Given the description of an element on the screen output the (x, y) to click on. 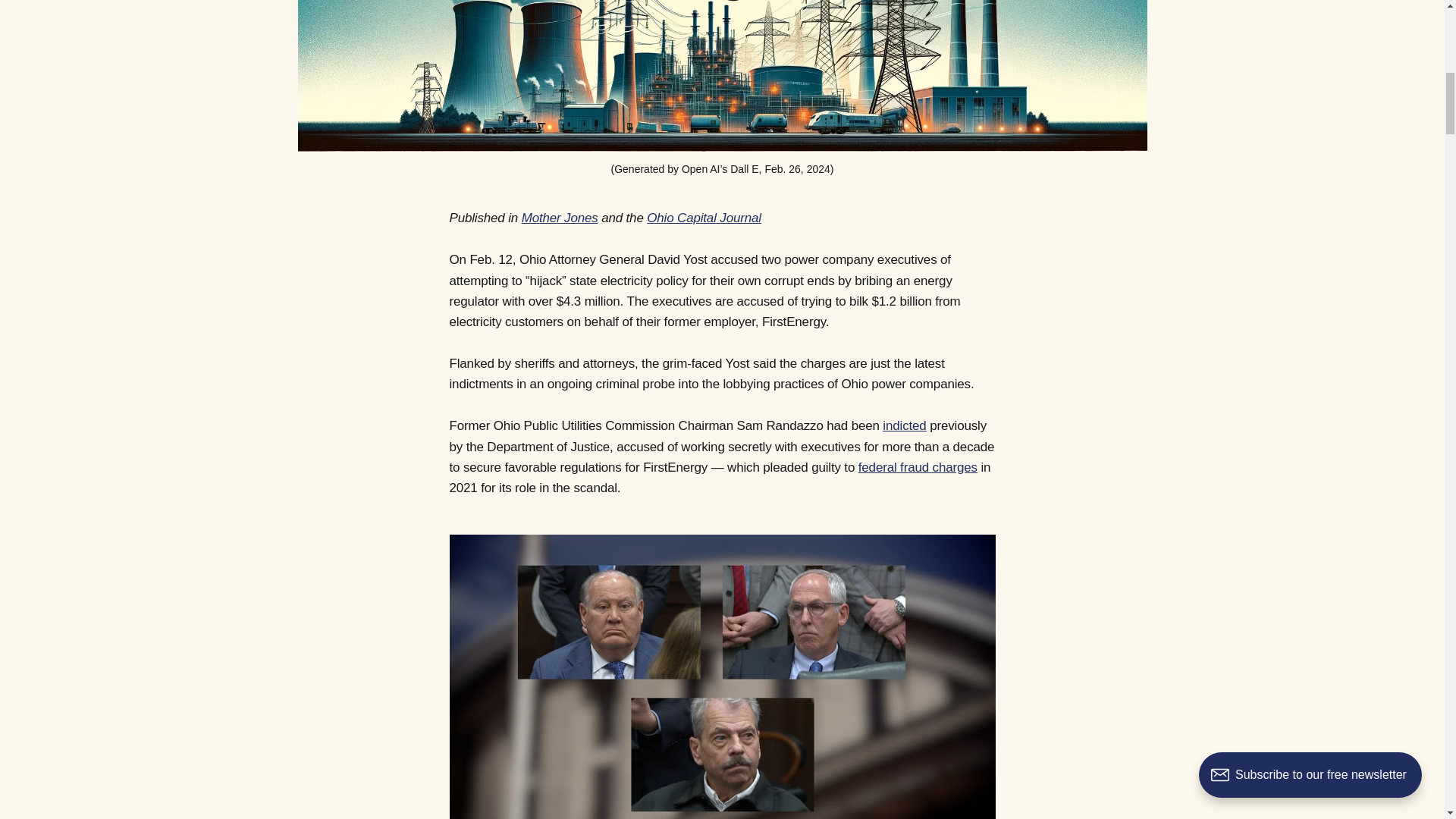
federal fraud charges (917, 467)
Mother Jones (559, 217)
indicted (904, 425)
Ohio Capital Journal (703, 217)
